Given the description of an element on the screen output the (x, y) to click on. 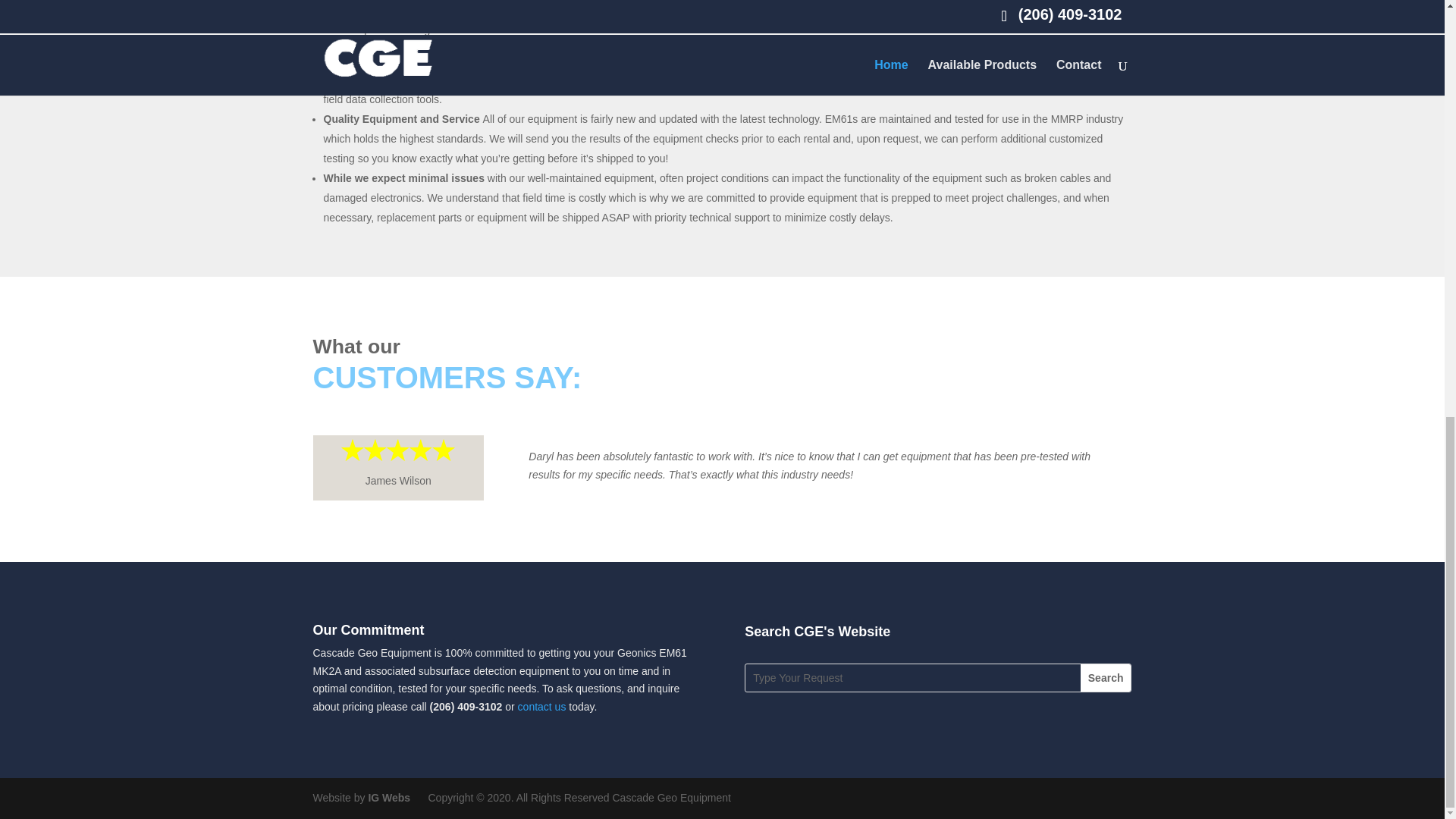
Search (1105, 677)
IG Webs (389, 797)
Search (1105, 677)
contact us (542, 706)
Search (1105, 677)
5 (397, 449)
